Given the description of an element on the screen output the (x, y) to click on. 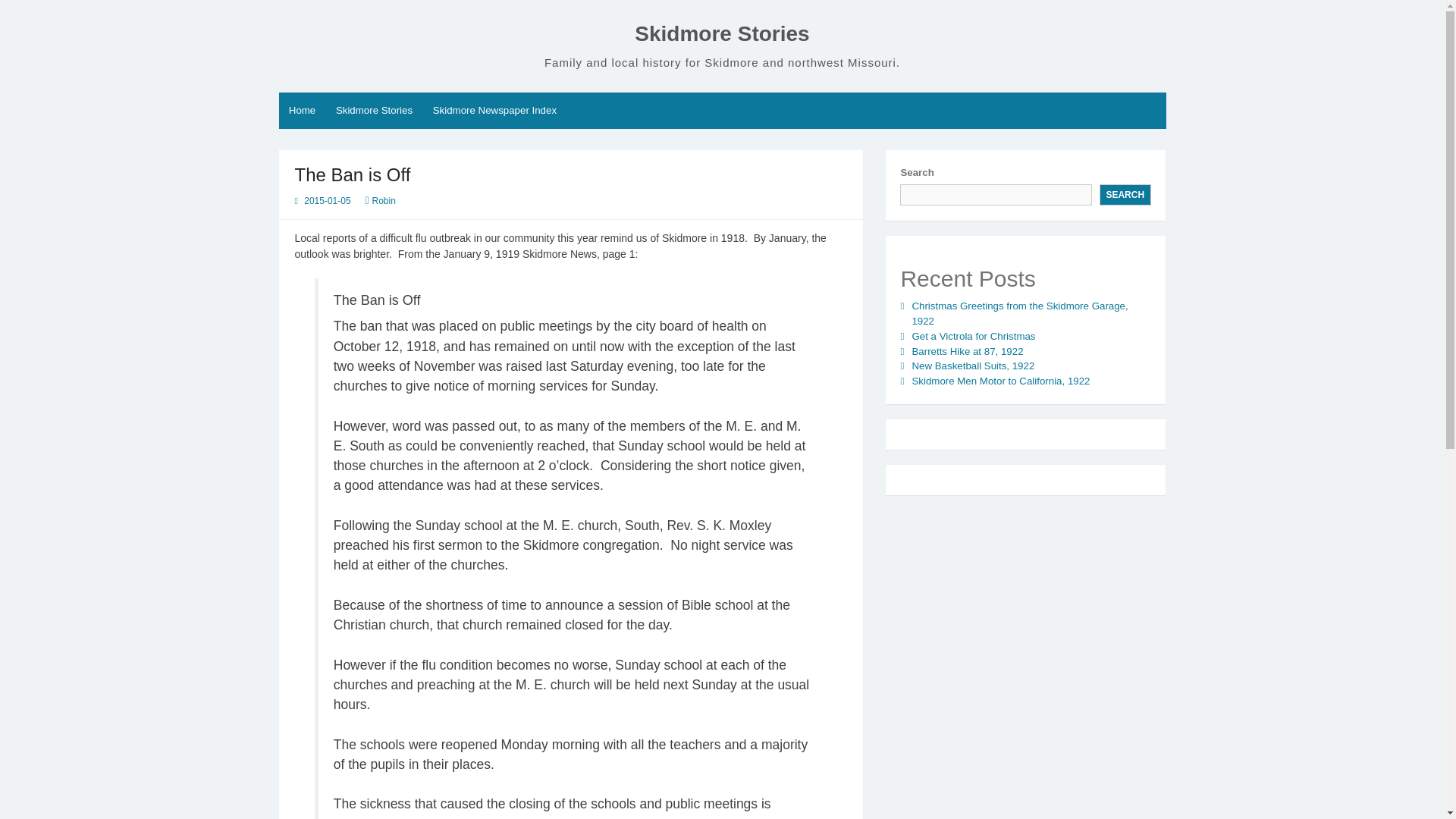
Christmas Greetings from the Skidmore Garage, 1922 (1018, 313)
SEARCH (1125, 194)
Skidmore Men Motor to California, 1922 (1000, 380)
Skidmore Stories (721, 33)
Home (302, 110)
Skidmore Stories (374, 110)
Get a Victrola for Christmas (973, 336)
2015-01-05 (327, 200)
Skidmore Newspaper Index (494, 110)
Robin (384, 200)
Barretts Hike at 87, 1922 (967, 351)
New Basketball Suits, 1922 (972, 365)
